Given the description of an element on the screen output the (x, y) to click on. 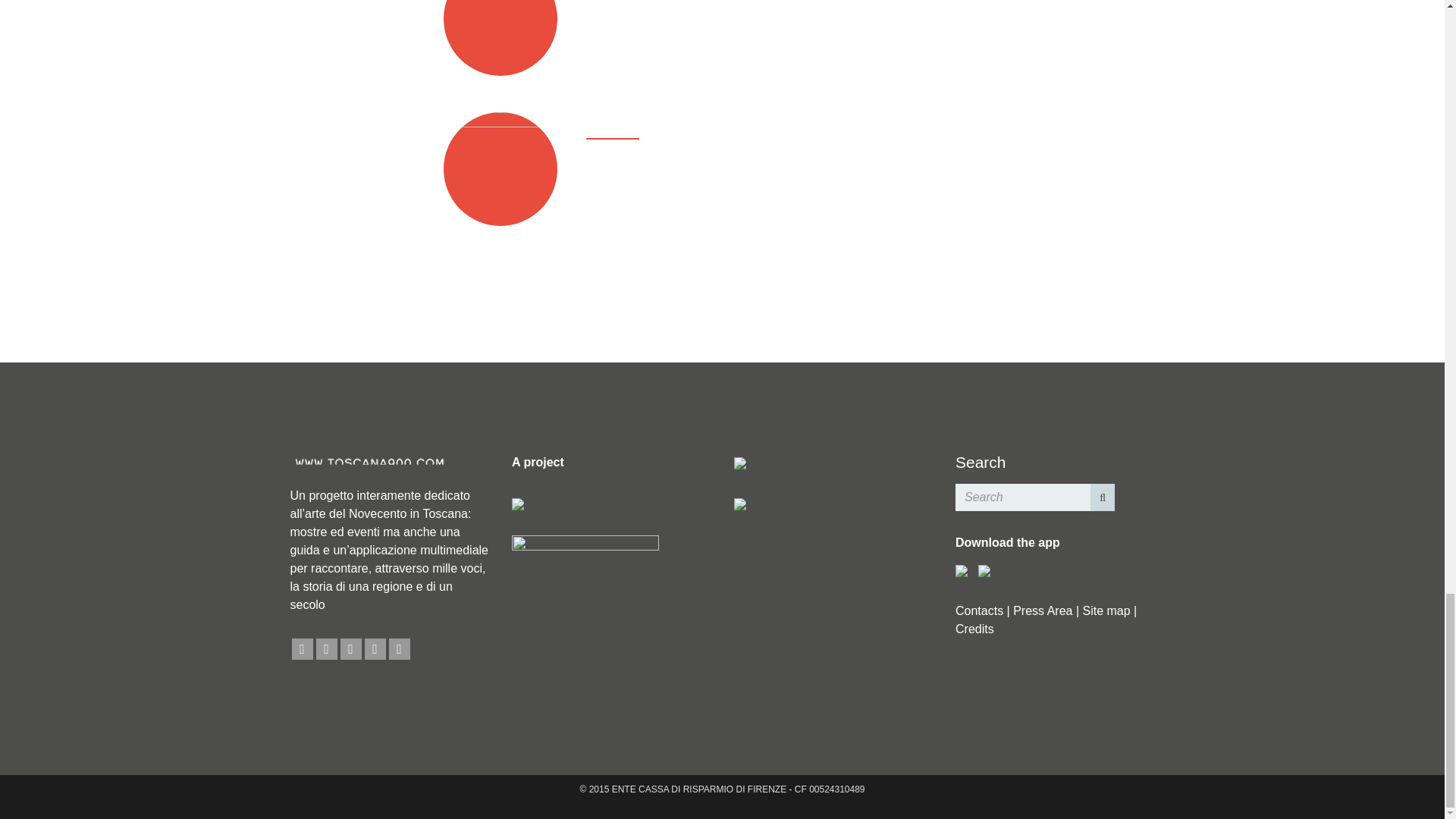
Parco Monumentale di Pinocchio? (677, 33)
Casa Studio di Fernando Melani (671, 184)
Facebook (302, 649)
LinkedIn (350, 649)
Fondazione Pistoiese Jorio Vivarelli (680, 202)
Museo Fondazione Marino Marini (675, 165)
Twitter (325, 649)
Gipsoteca Libero Andreotti (657, 15)
